Given the description of an element on the screen output the (x, y) to click on. 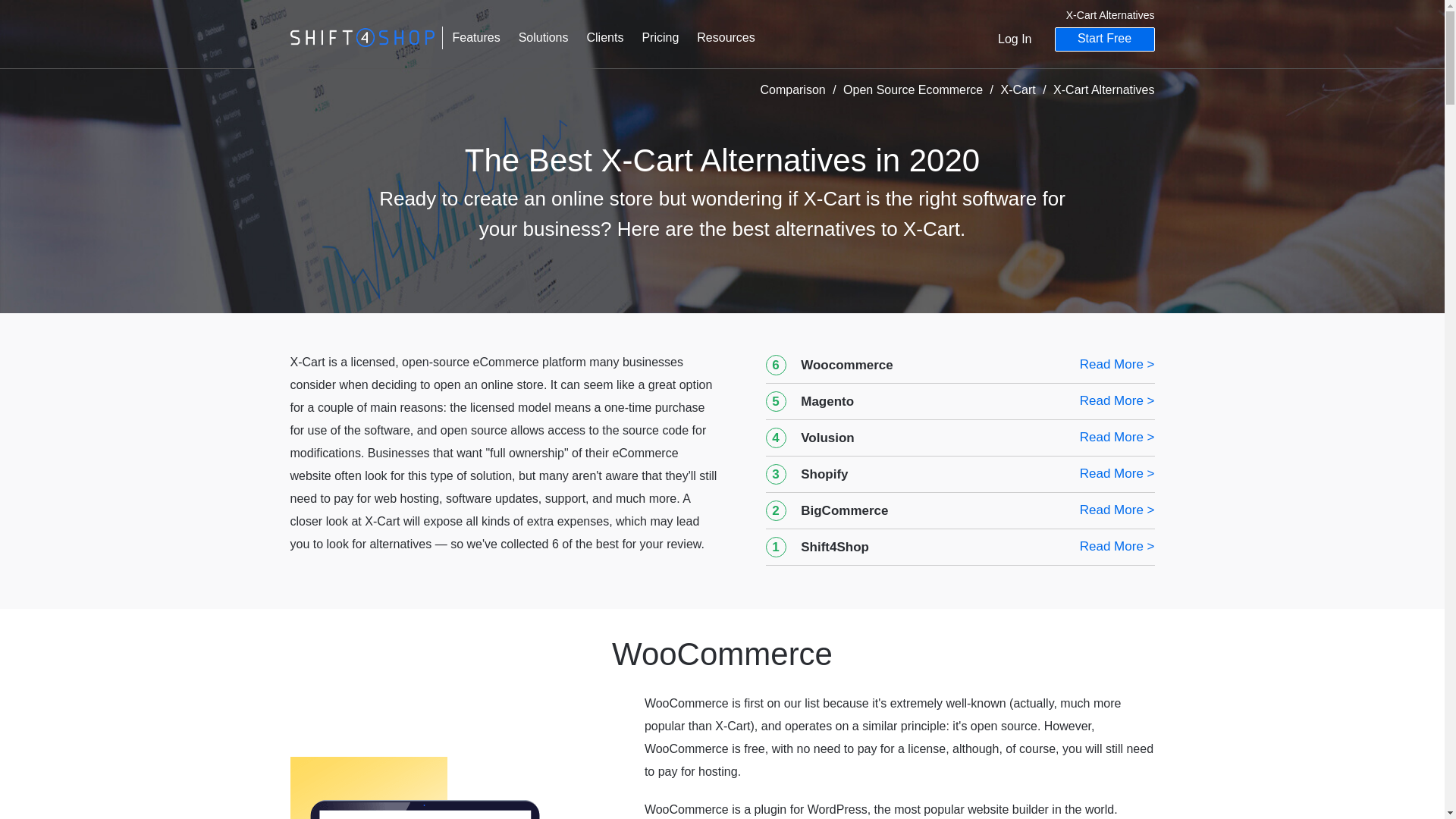
Log In (1013, 38)
Open Source Ecommerce (915, 89)
Resources (724, 35)
ecommerce software (361, 37)
Comparison (794, 89)
Start Free (1104, 39)
Solutions (543, 35)
X-Cart (1020, 89)
X-Cart Alternatives (1103, 89)
WooCommerce (423, 787)
Features (475, 35)
